Given the description of an element on the screen output the (x, y) to click on. 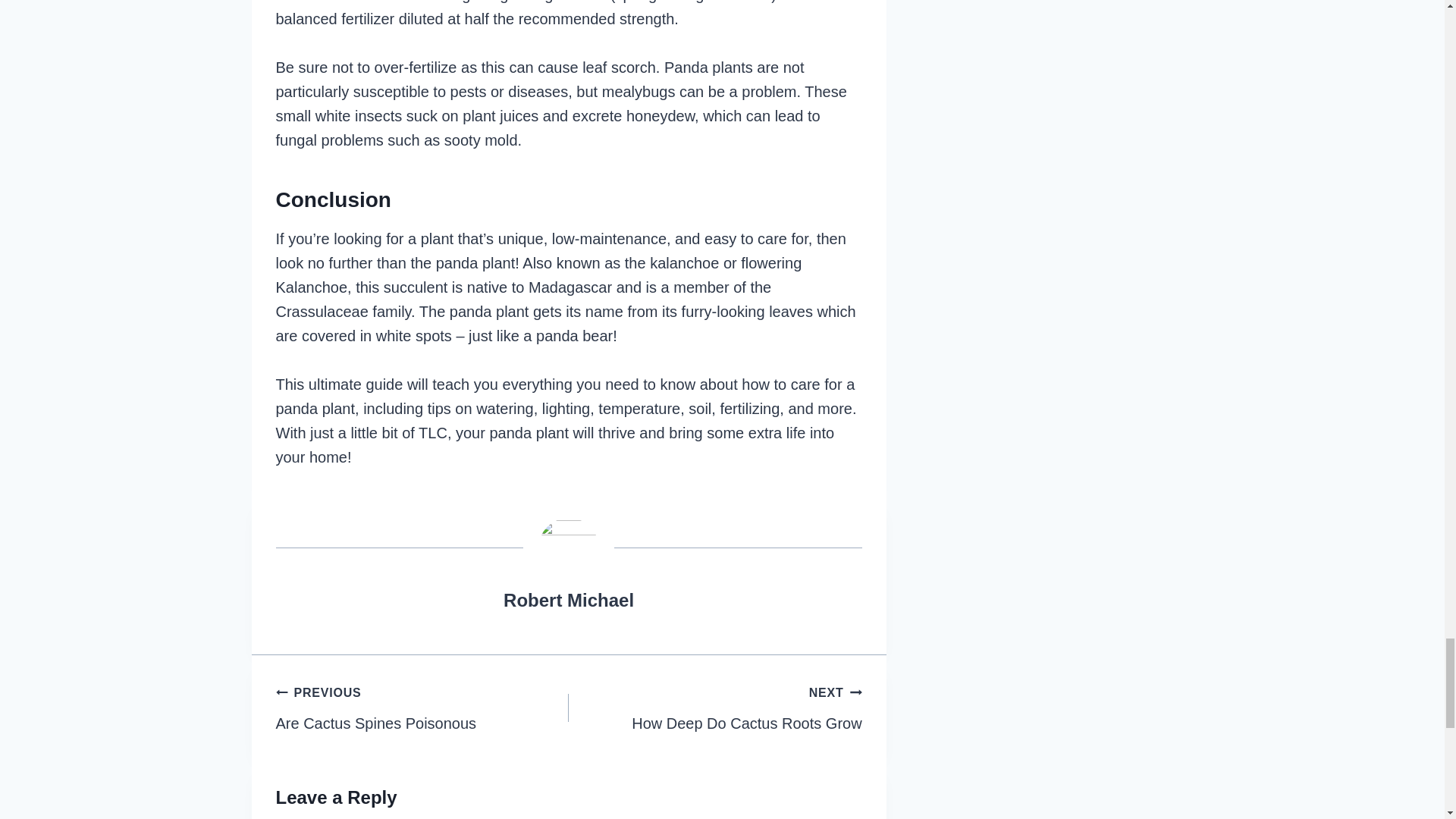
Robert Michael (715, 707)
Posts by Robert Michael (568, 599)
